Given the description of an element on the screen output the (x, y) to click on. 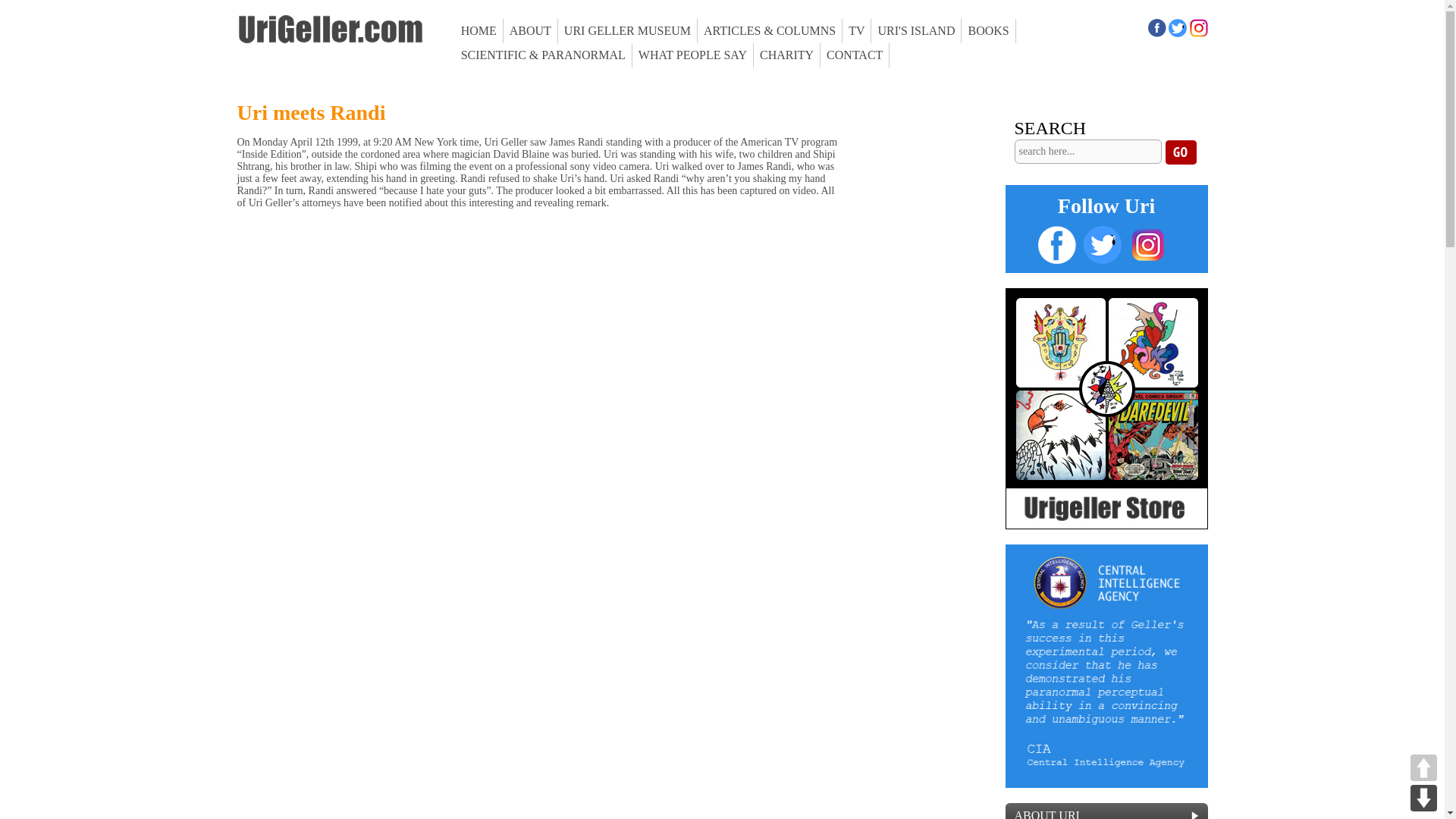
WHAT PEOPLE SAY (692, 55)
BOOKS (987, 30)
HOME (478, 30)
TV (856, 30)
CHARITY (787, 55)
ABOUT (530, 30)
CONTACT (855, 55)
URI'S ISLAND (915, 30)
URI GELLER MUSEUM (627, 30)
ABOUT URI (1107, 811)
